Given the description of an element on the screen output the (x, y) to click on. 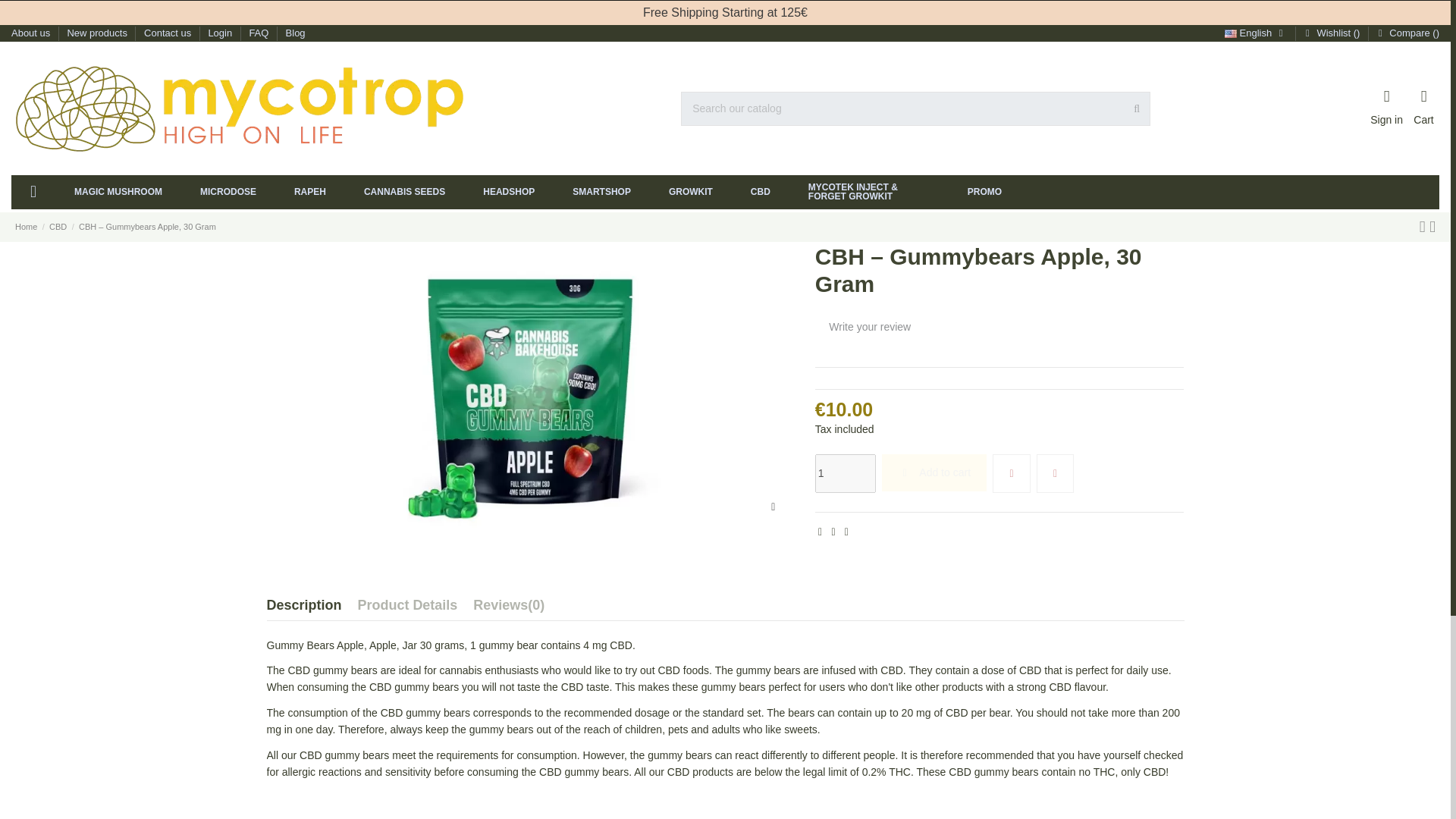
New products (97, 32)
Blog (295, 32)
Login (221, 32)
FAQ (259, 32)
CBD (760, 192)
RAPEH (310, 192)
About us (31, 32)
HEADSHOP (508, 192)
MICRODOSE (227, 192)
GROWKIT (690, 192)
